Given the description of an element on the screen output the (x, y) to click on. 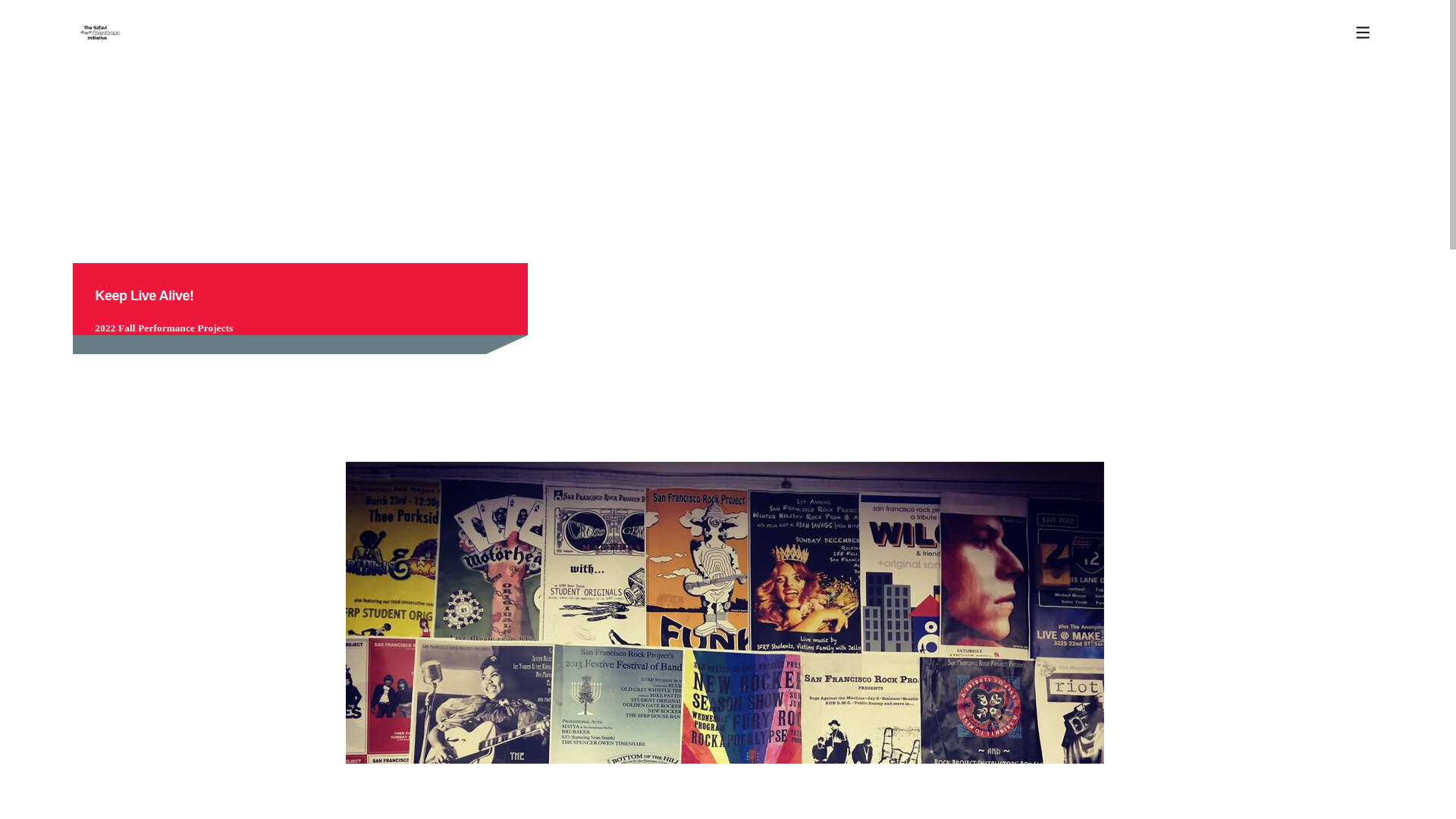
Safavi Philanthropic Initiative (99, 32)
